Given the description of an element on the screen output the (x, y) to click on. 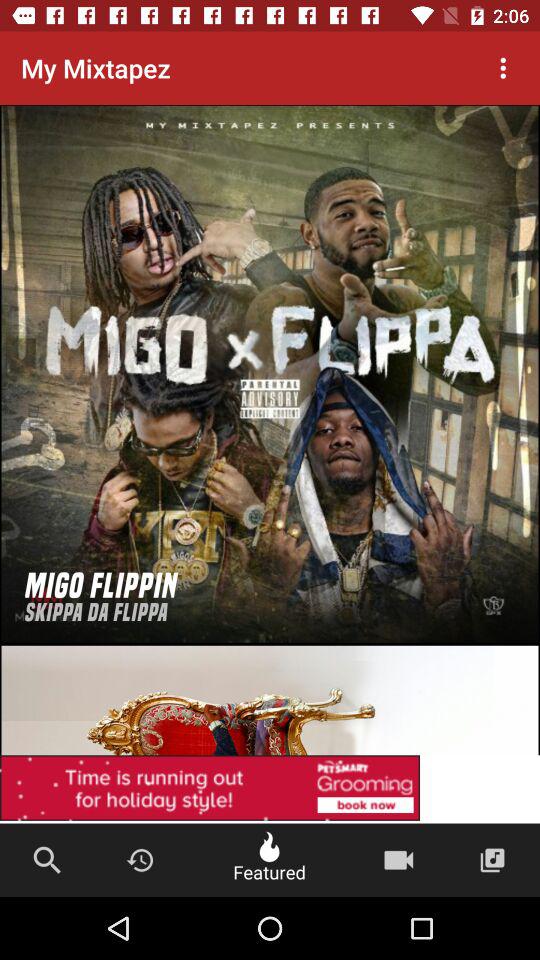
advertisement (270, 789)
